Given the description of an element on the screen output the (x, y) to click on. 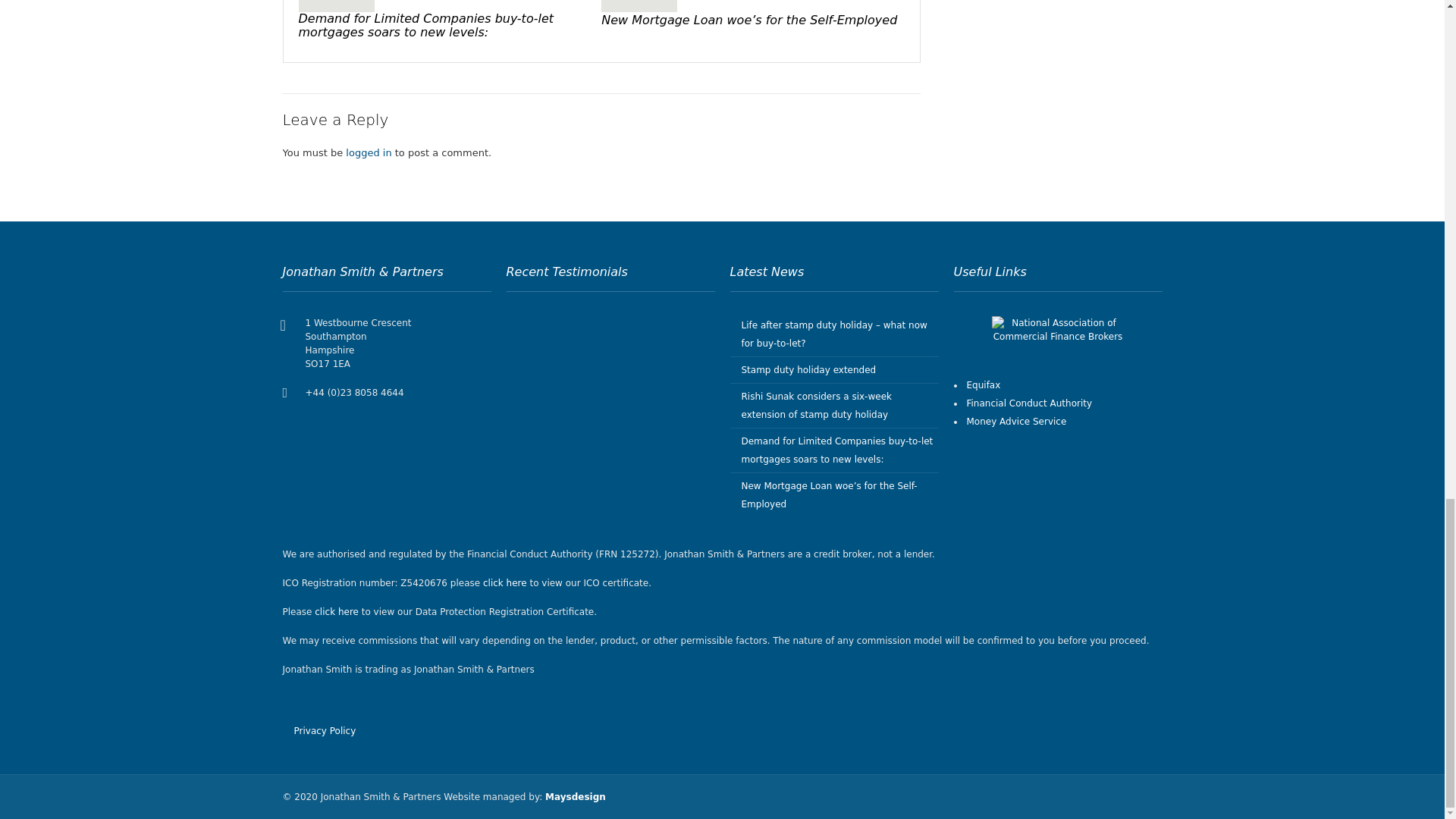
logged in (368, 152)
